Given the description of an element on the screen output the (x, y) to click on. 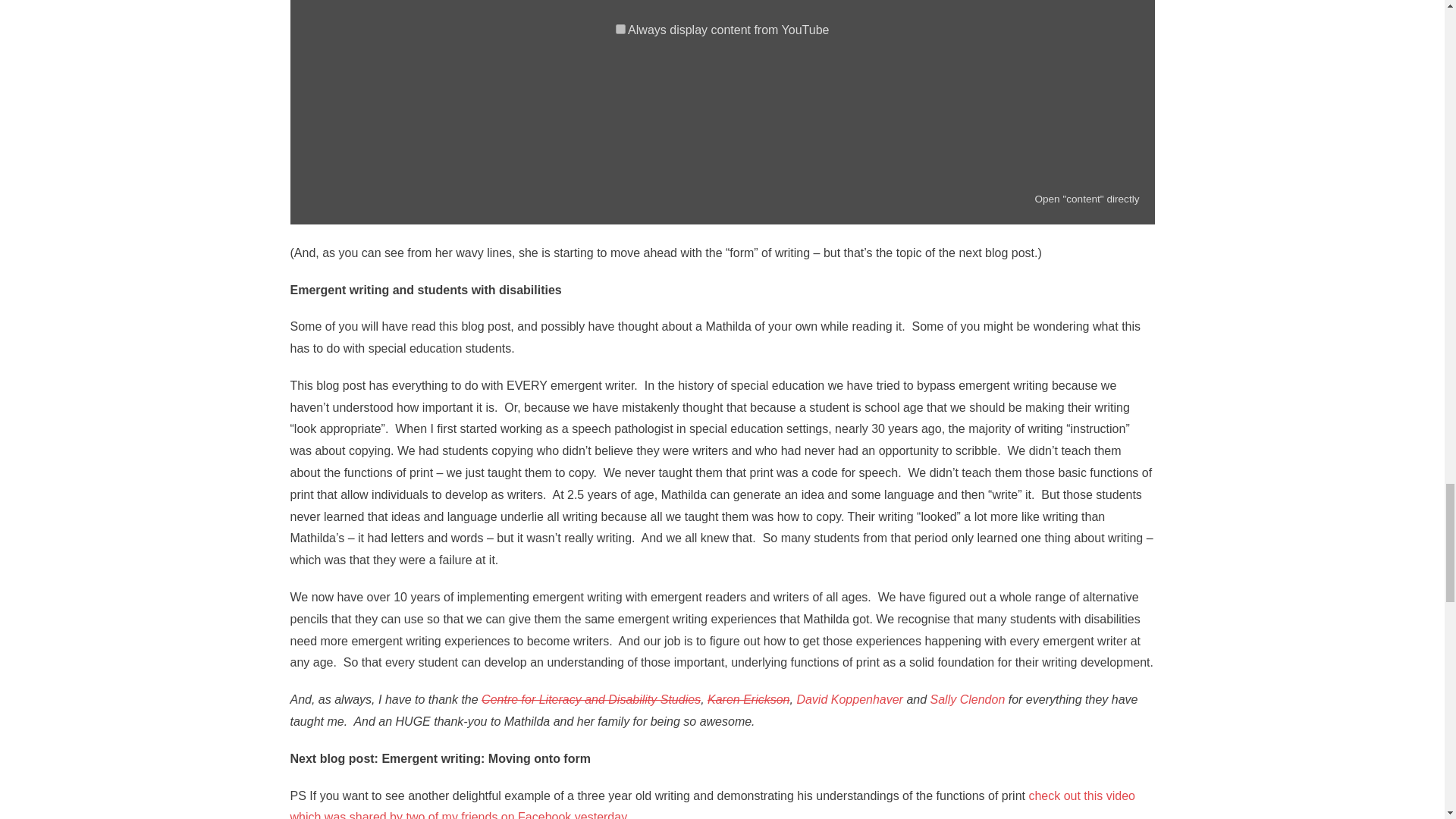
1 (620, 29)
Open "content" directly (1085, 198)
